Given the description of an element on the screen output the (x, y) to click on. 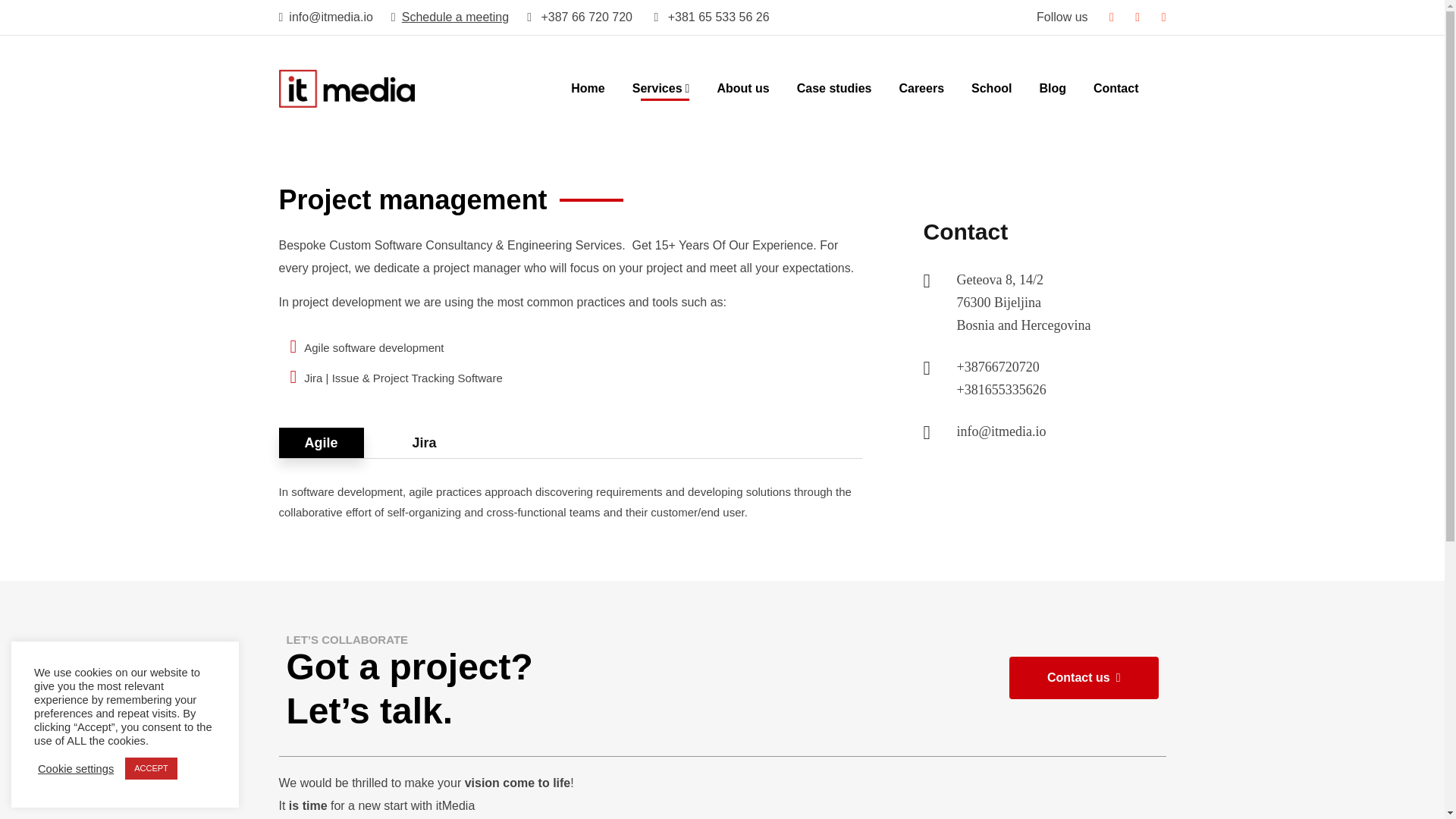
Contact us (1083, 677)
Cookie settings (75, 767)
Schedule a meeting (440, 16)
ACCEPT (151, 768)
itMedia (346, 87)
